Given the description of an element on the screen output the (x, y) to click on. 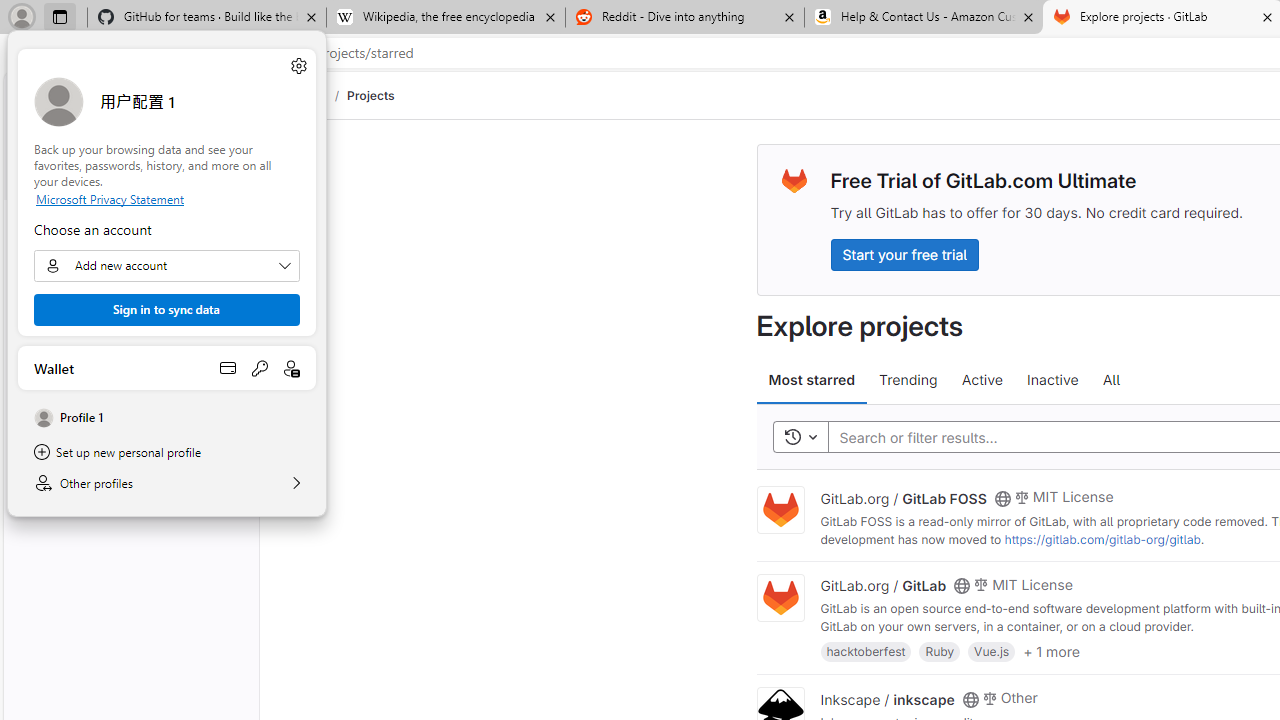
+ 1 more (1051, 650)
Most starred (811, 379)
Microsoft Privacy Statement (166, 198)
Inactive (1052, 379)
Open payment methods (228, 367)
Open personal info (292, 367)
Ruby (940, 650)
Profile 1 (166, 418)
Sign in to sync data (166, 309)
Class: project (780, 597)
GitLab.org / GitLab (883, 585)
All (1111, 379)
Set up new personal profile (166, 452)
